Given the description of an element on the screen output the (x, y) to click on. 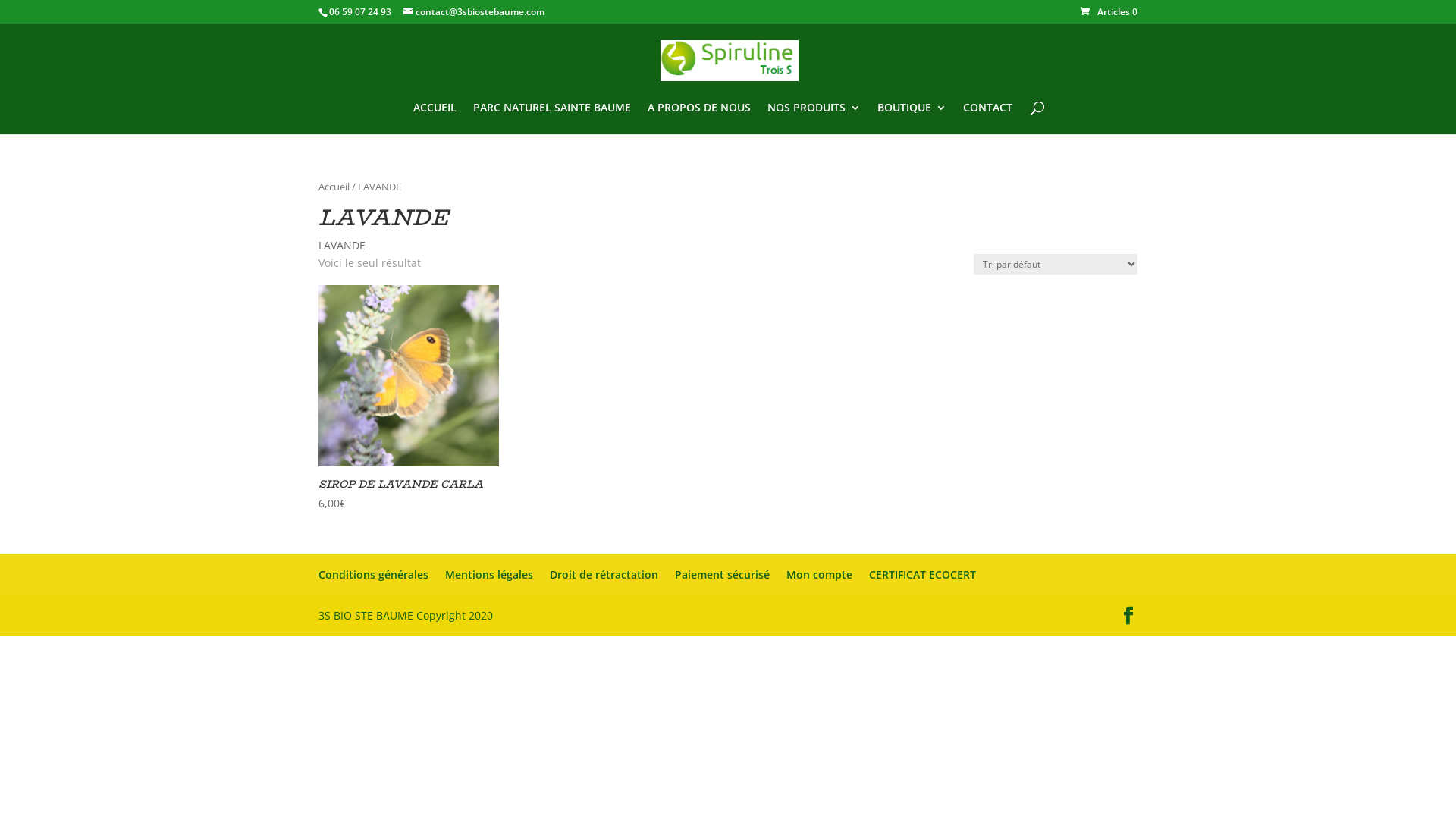
ACCUEIL Element type: text (434, 118)
Articles 0 Element type: text (1108, 11)
A PROPOS DE NOUS Element type: text (698, 118)
BOUTIQUE Element type: text (911, 118)
PARC NATUREL SAINTE BAUME Element type: text (551, 118)
Mon compte Element type: text (819, 574)
contact@3sbiostebaume.com Element type: text (473, 11)
CERTIFICAT ECOCERT Element type: text (922, 574)
Accueil Element type: text (333, 186)
CONTACT Element type: text (987, 118)
NOS PRODUITS Element type: text (813, 118)
